Given the description of an element on the screen output the (x, y) to click on. 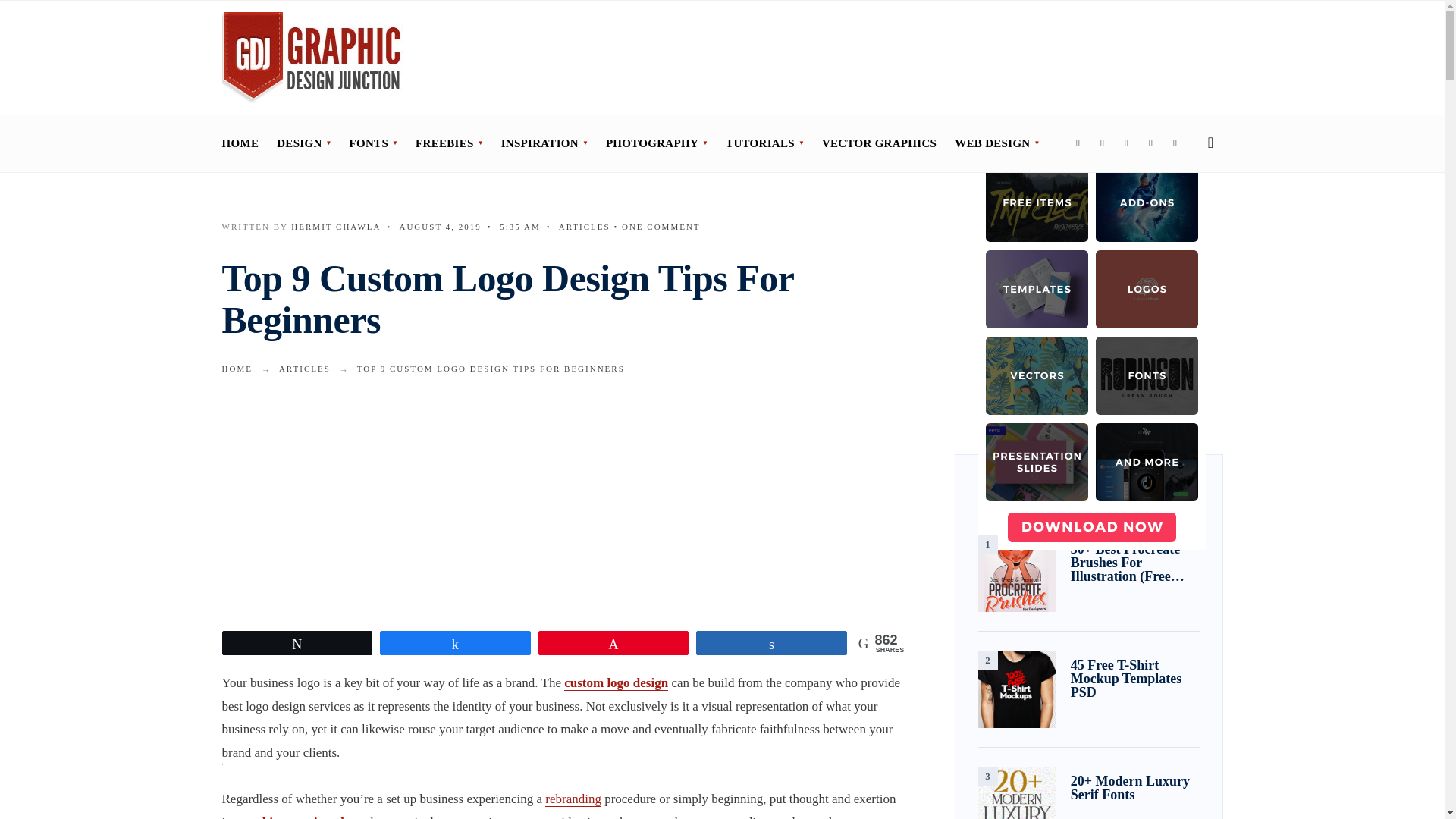
HOME (240, 143)
DESIGN (303, 143)
Pinterest (1150, 143)
Facebook (1077, 143)
Twitter (1102, 143)
TUTORIALS (764, 143)
Instagram (1126, 143)
FREEBIES (448, 143)
FONTS (373, 143)
